Given the description of an element on the screen output the (x, y) to click on. 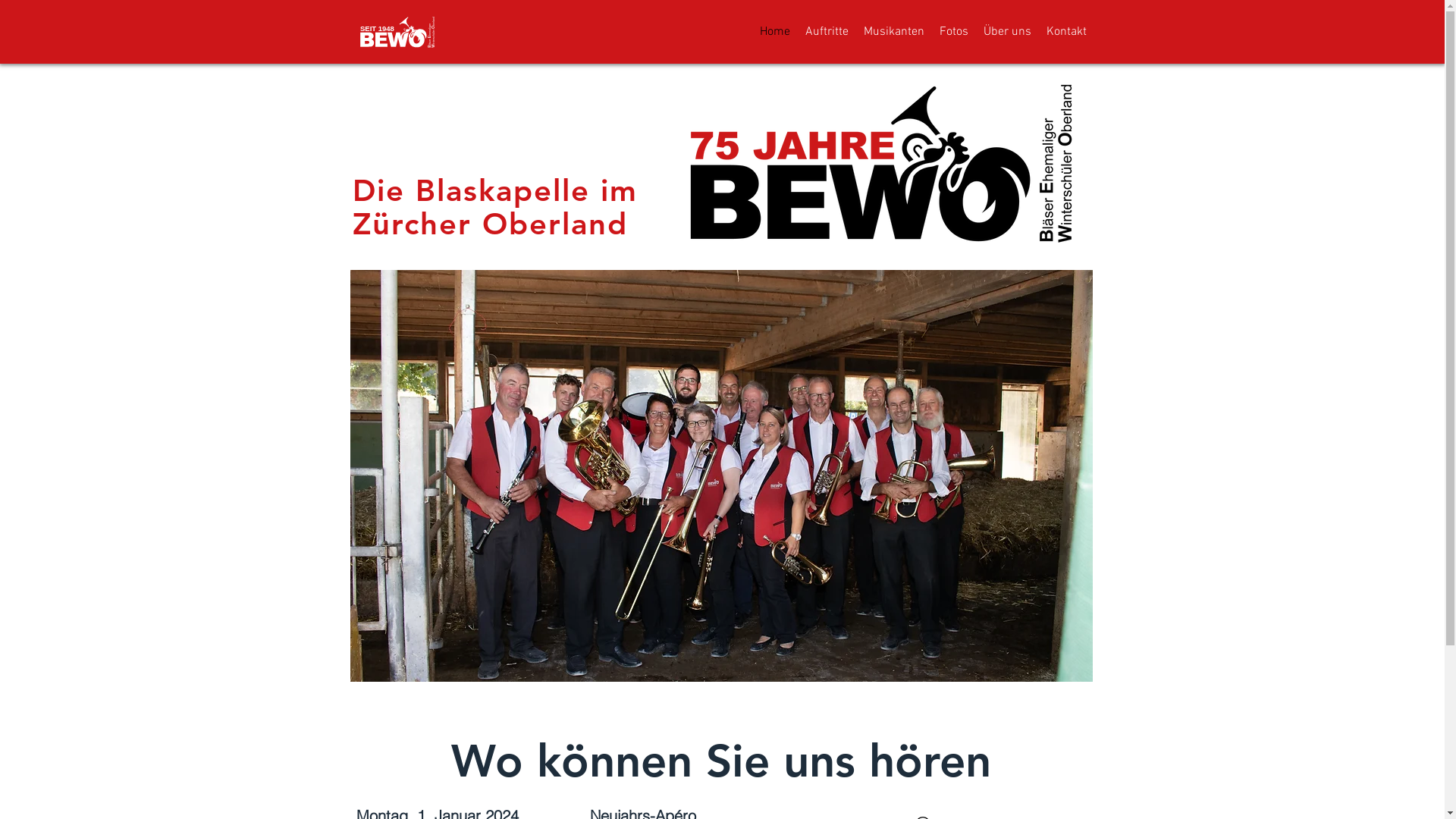
Fotos Element type: text (953, 31)
guy2.jpg Element type: hover (882, 161)
Home Element type: text (774, 31)
Kontakt Element type: text (1066, 31)
Musikanten Element type: text (893, 31)
Auftritte Element type: text (826, 31)
